Given the description of an element on the screen output the (x, y) to click on. 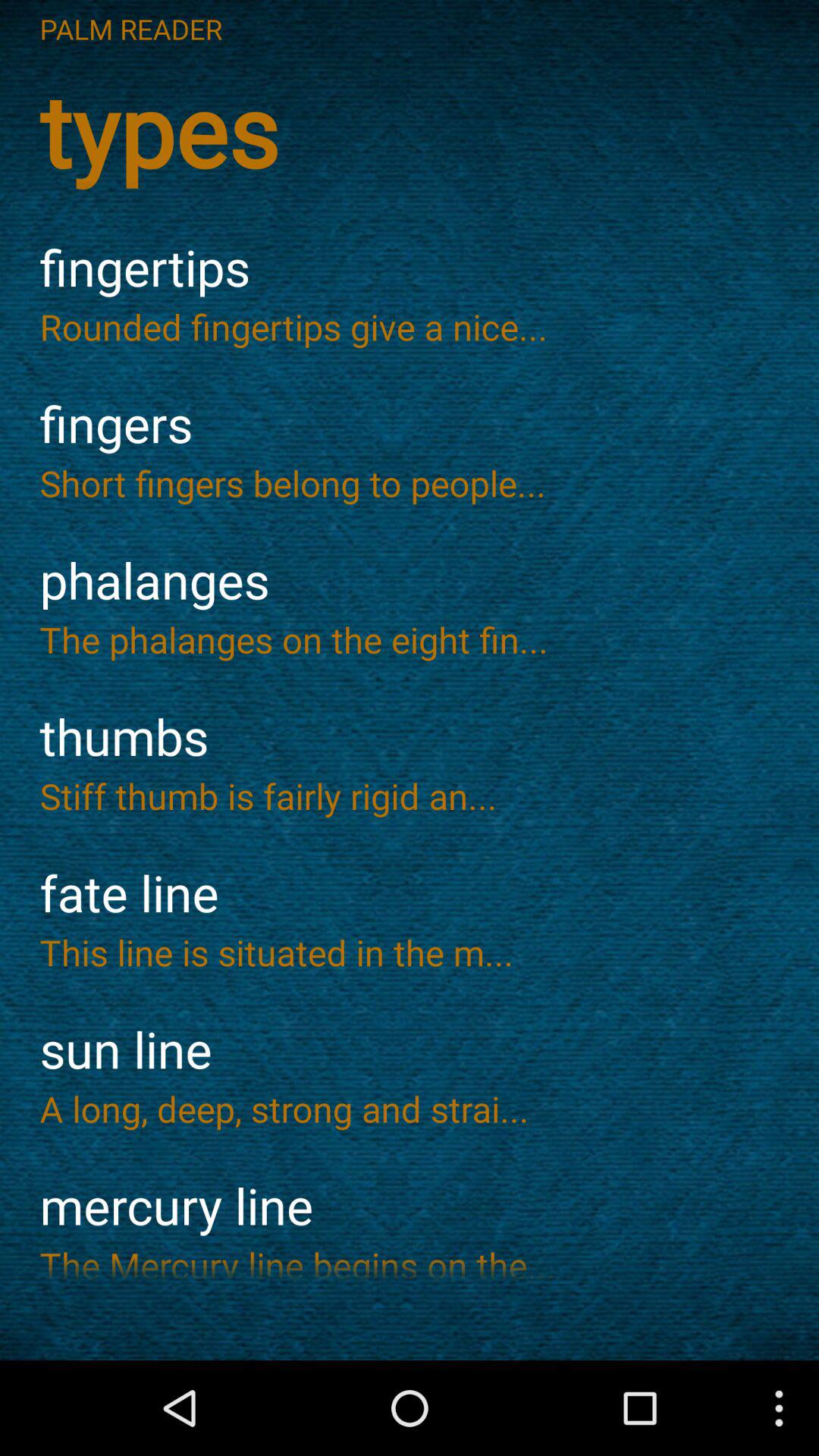
flip until this line is item (409, 952)
